Given the description of an element on the screen output the (x, y) to click on. 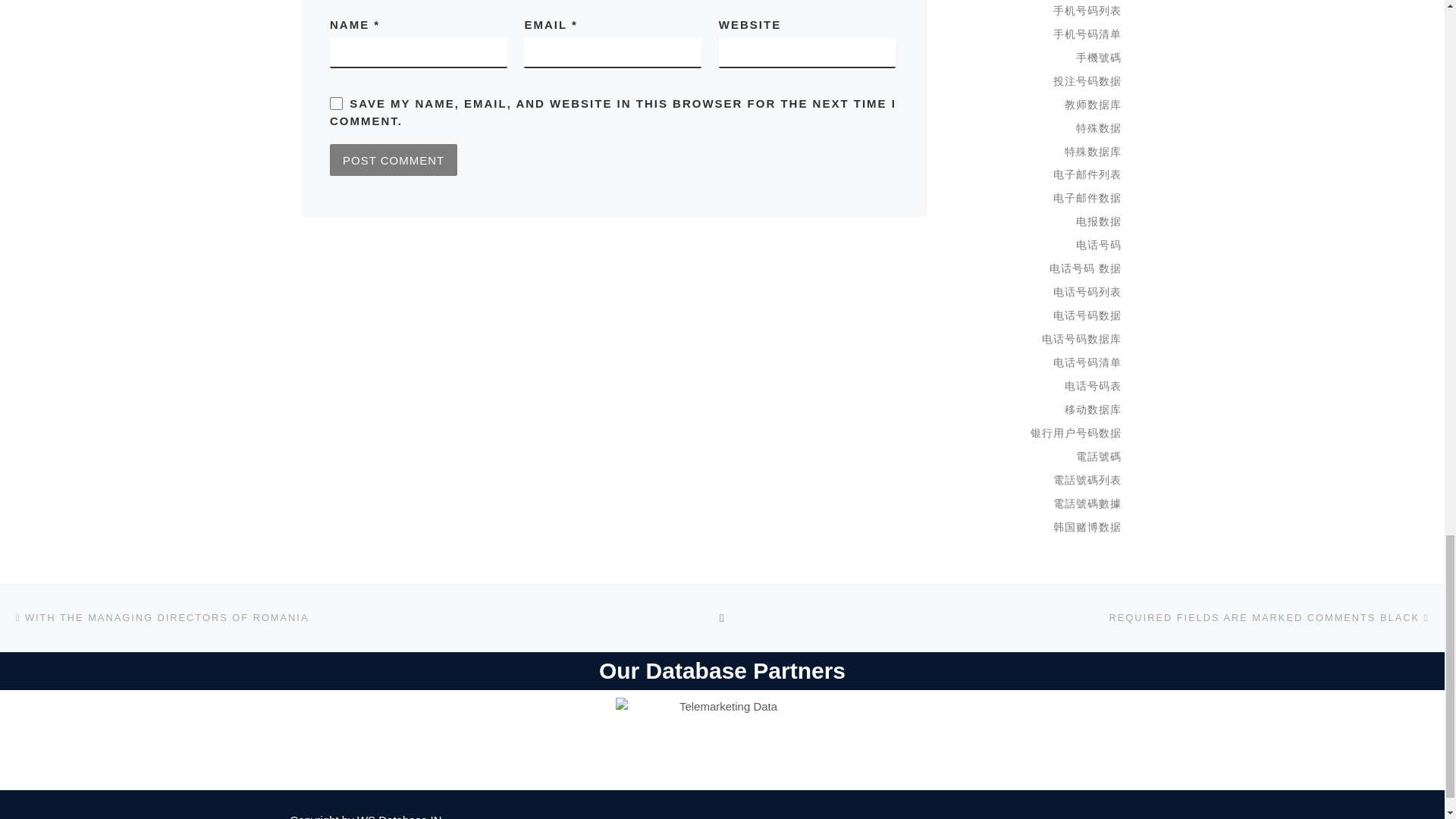
yes (336, 103)
Post Comment (393, 160)
